Given the description of an element on the screen output the (x, y) to click on. 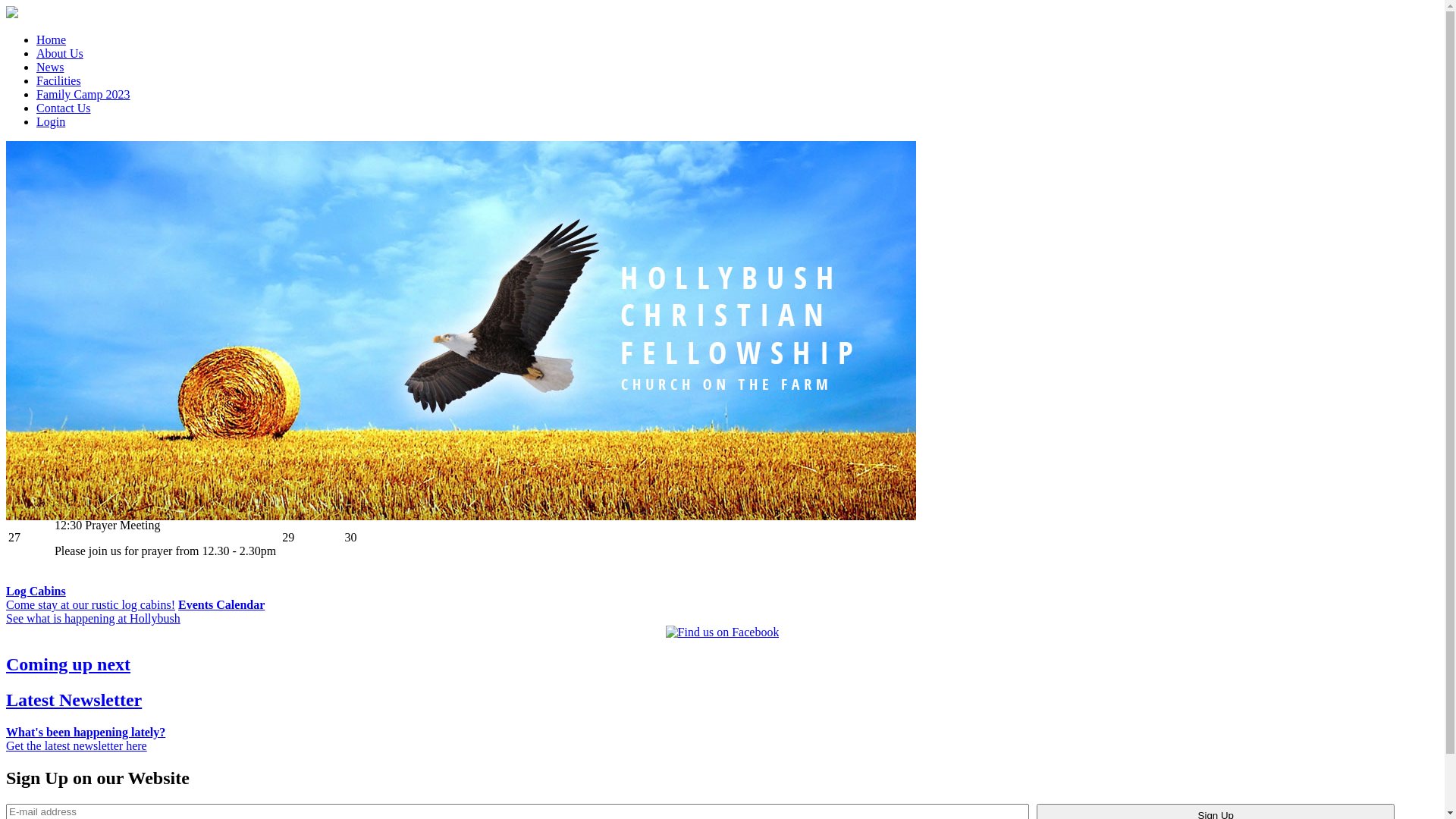
About Us Element type: text (59, 53)
Log Cabins
Come stay at our rustic log cabins! Element type: text (90, 597)
Family Camp 2023 Element type: text (83, 93)
Find us on Facebook Element type: hover (722, 631)
Events Calendar
See what is happening at Hollybush Element type: text (135, 611)
Login Element type: text (50, 121)
Contact Us Element type: text (63, 107)
Coming up next Element type: text (722, 664)
Hollybush Christian Fellowship Element type: hover (12, 13)
Home Element type: text (50, 39)
Facilities Element type: text (58, 80)
News Element type: text (49, 66)
